Given the description of an element on the screen output the (x, y) to click on. 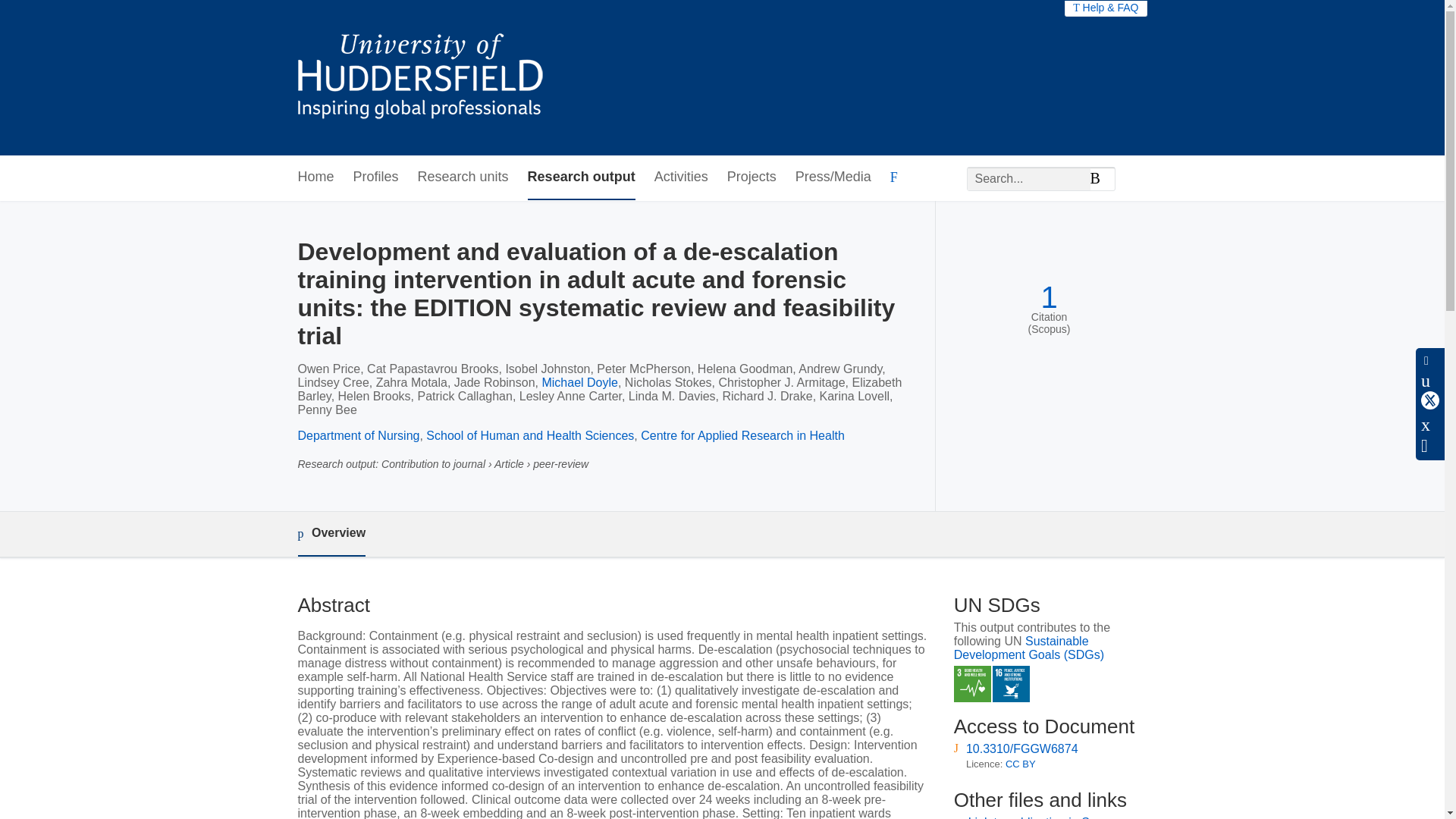
Profiles (375, 177)
SDG 16 - Peace, Justice and Strong Institutions (1010, 683)
Michael Doyle (579, 382)
University of Huddersfield Research Portal Home (431, 77)
Centre for Applied Research in Health (742, 435)
Research units (462, 177)
CC BY (1020, 763)
SDG 3 - Good Health and Well-being (972, 683)
Research output (580, 177)
Overview (331, 533)
